Given the description of an element on the screen output the (x, y) to click on. 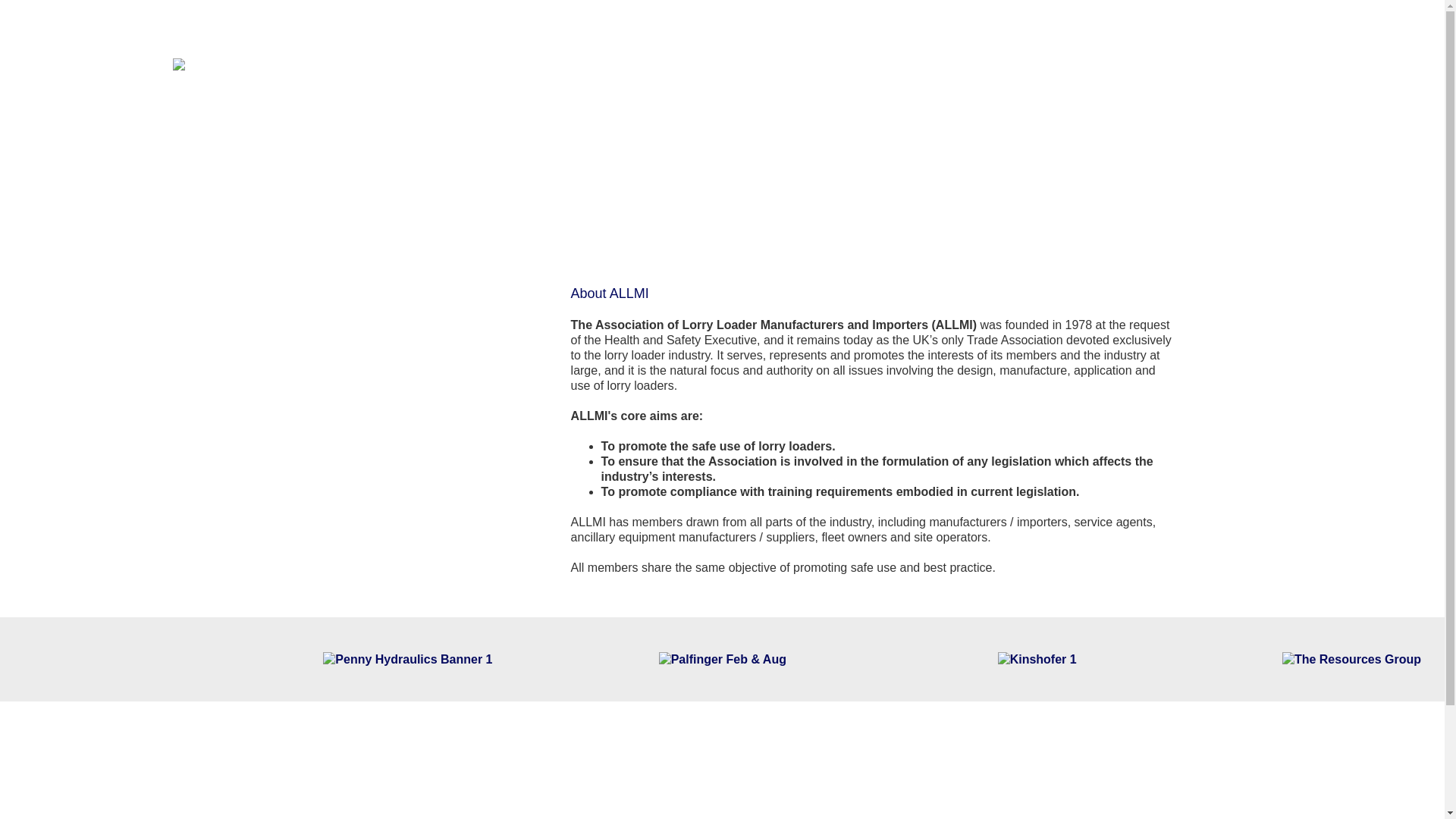
Kinshofer 1 (1036, 658)
The Resources Group (1351, 658)
Penny Hydraulics Banner 1 (407, 658)
